Given the description of an element on the screen output the (x, y) to click on. 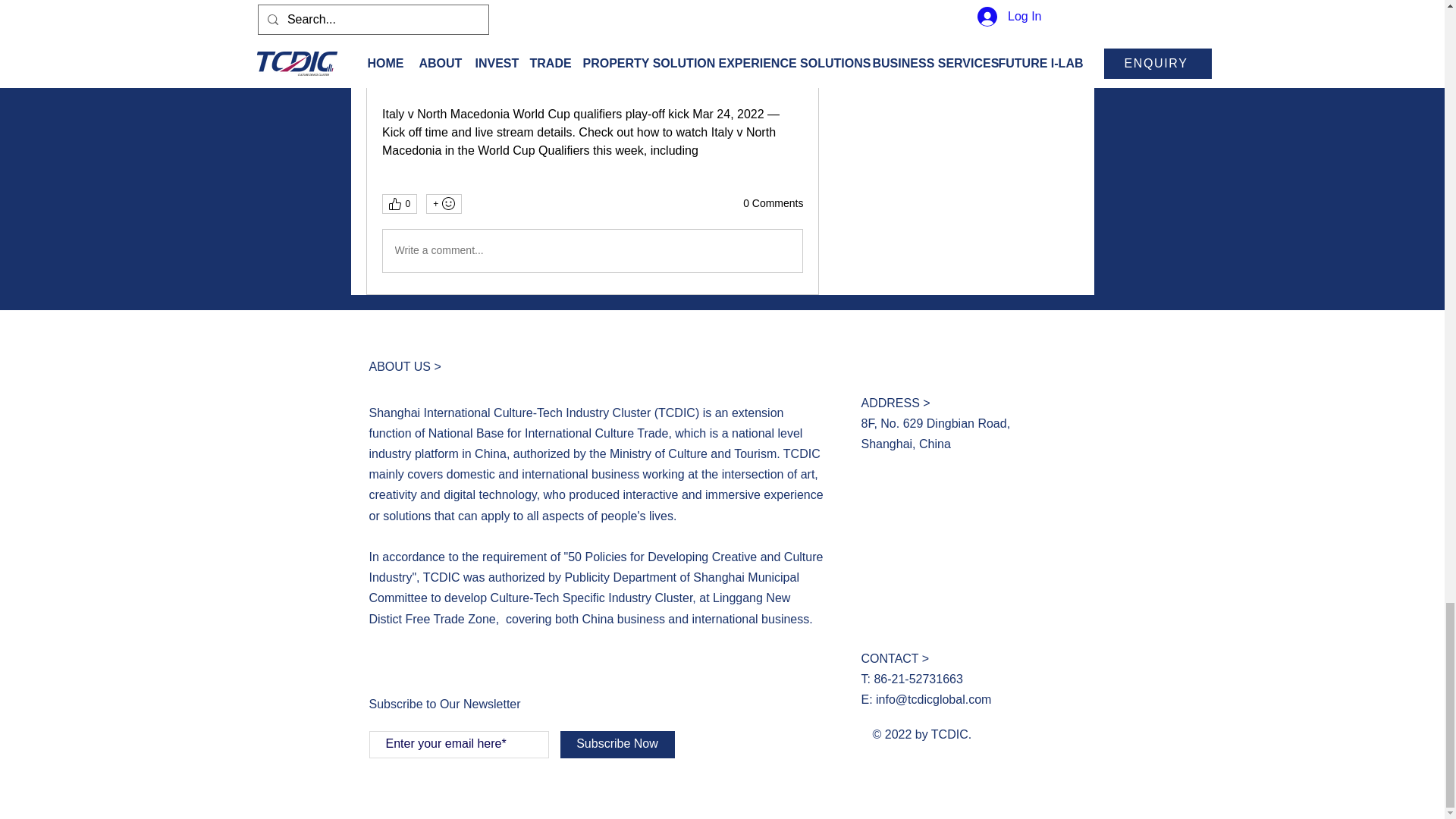
0 Comments (772, 203)
Write a comment... (591, 250)
